Given the description of an element on the screen output the (x, y) to click on. 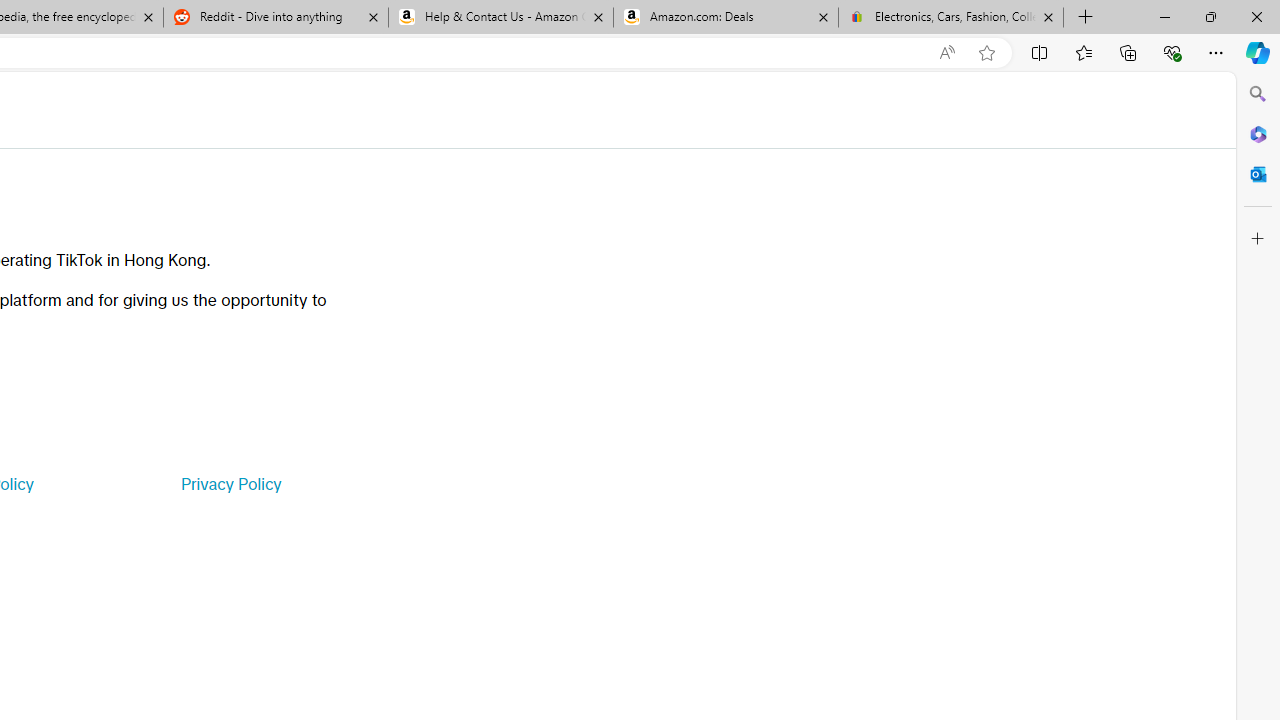
Amazon.com: Deals (726, 17)
Privacy Policy (230, 484)
